Given the description of an element on the screen output the (x, y) to click on. 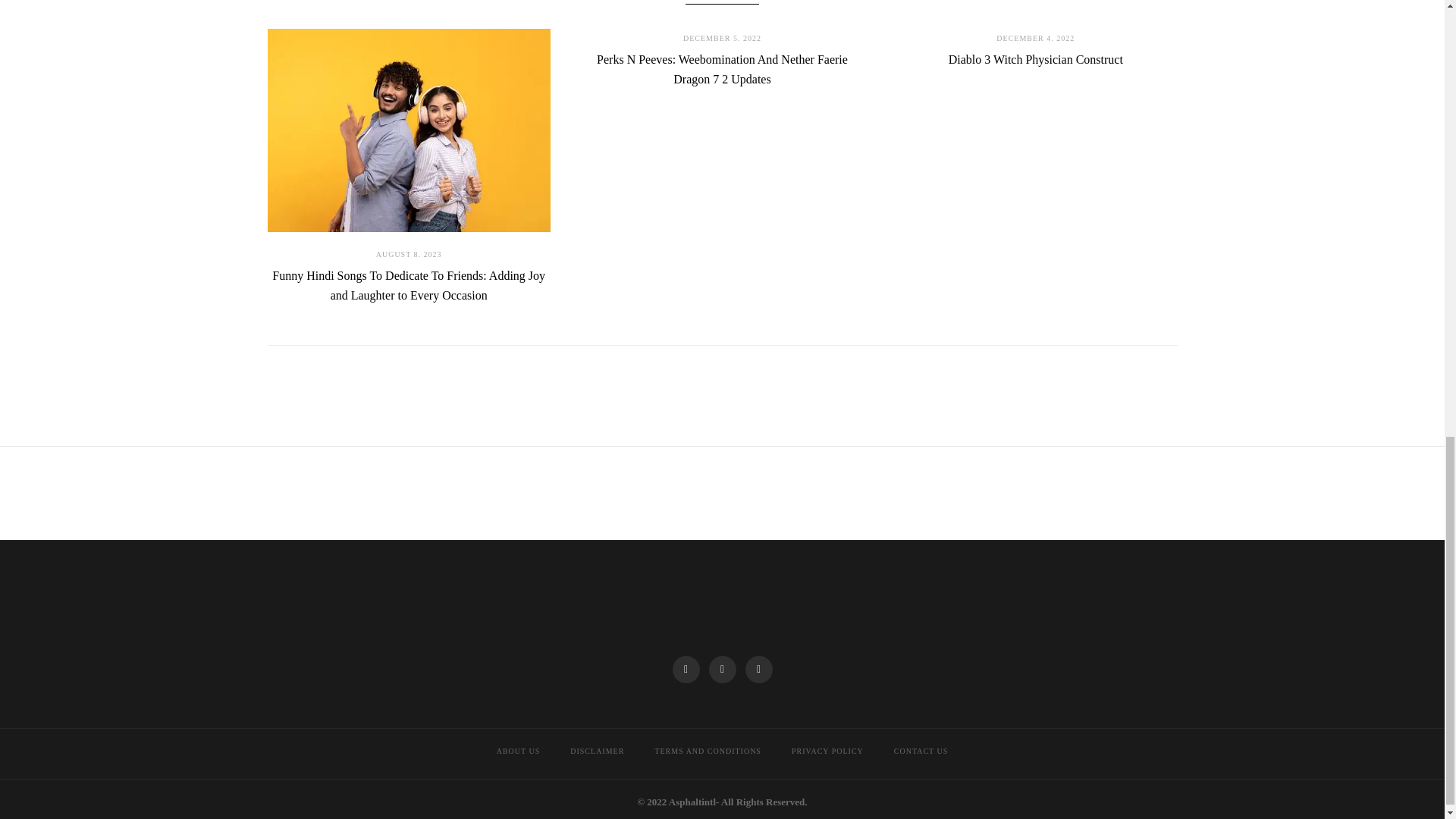
Twitter (721, 669)
Diablo 3 Witch Physician Construct (1035, 59)
Facebook (684, 669)
